Given the description of an element on the screen output the (x, y) to click on. 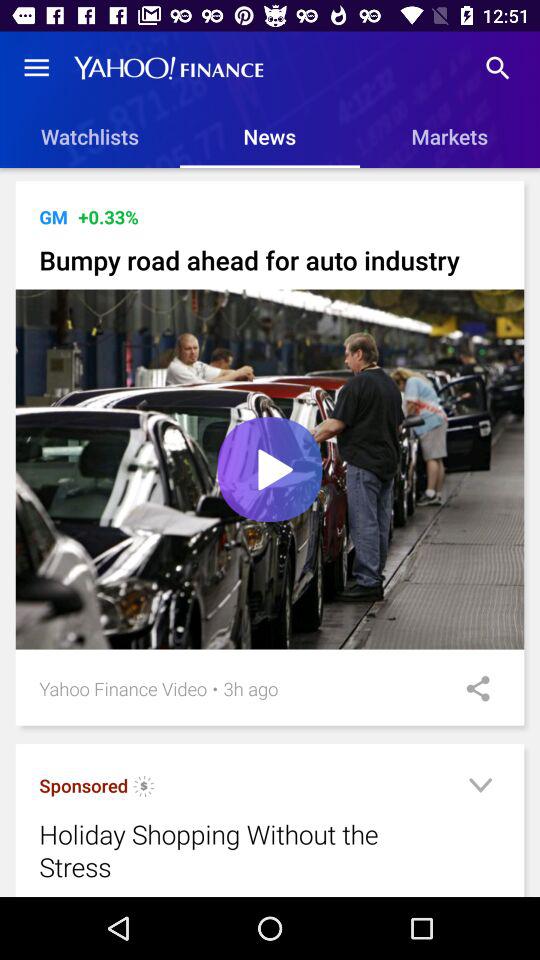
launch the item below the watchlists (273, 179)
